Given the description of an element on the screen output the (x, y) to click on. 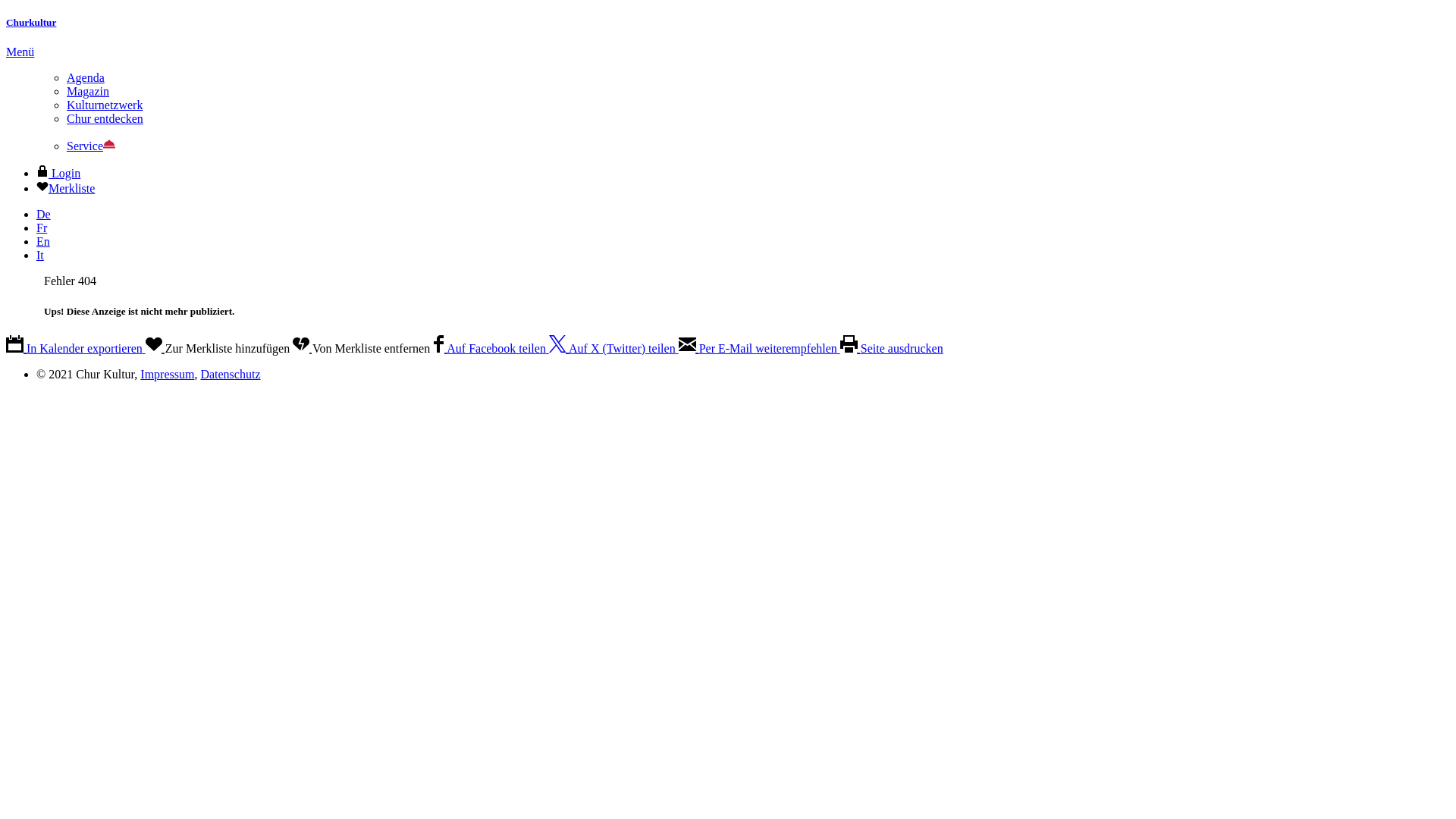
Fr Element type: text (41, 227)
Kulturnetzwerk Element type: text (104, 104)
<p>Auf X (Twitter) teilen</p> Element type: hover (558, 348)
Impressum Element type: text (167, 373)
Auf X (Twitter) teilen Element type: text (613, 348)
Seite ausdrucken Seite ausdrucken Element type: text (891, 348)
Datenschutz Element type: text (230, 373)
Service Element type: text (90, 145)
De Element type: text (43, 213)
It Element type: text (39, 254)
Agenda Element type: text (85, 77)
Chur entdecken Element type: text (104, 118)
Churkultur Element type: text (31, 22)
Per E-Mail weiterempfehlen Per E-Mail weiterempfehlen Element type: text (759, 348)
Icon MerklisteMerkliste Element type: text (65, 188)
En Element type: text (43, 241)
Login Element type: text (58, 172)
Magazin Element type: text (87, 90)
Auf Facebook teilen Auf Facebook teilen Element type: text (491, 348)
Von Merkliste entfernen Von Merkliste entfernen Element type: text (362, 348)
